Given the description of an element on the screen output the (x, y) to click on. 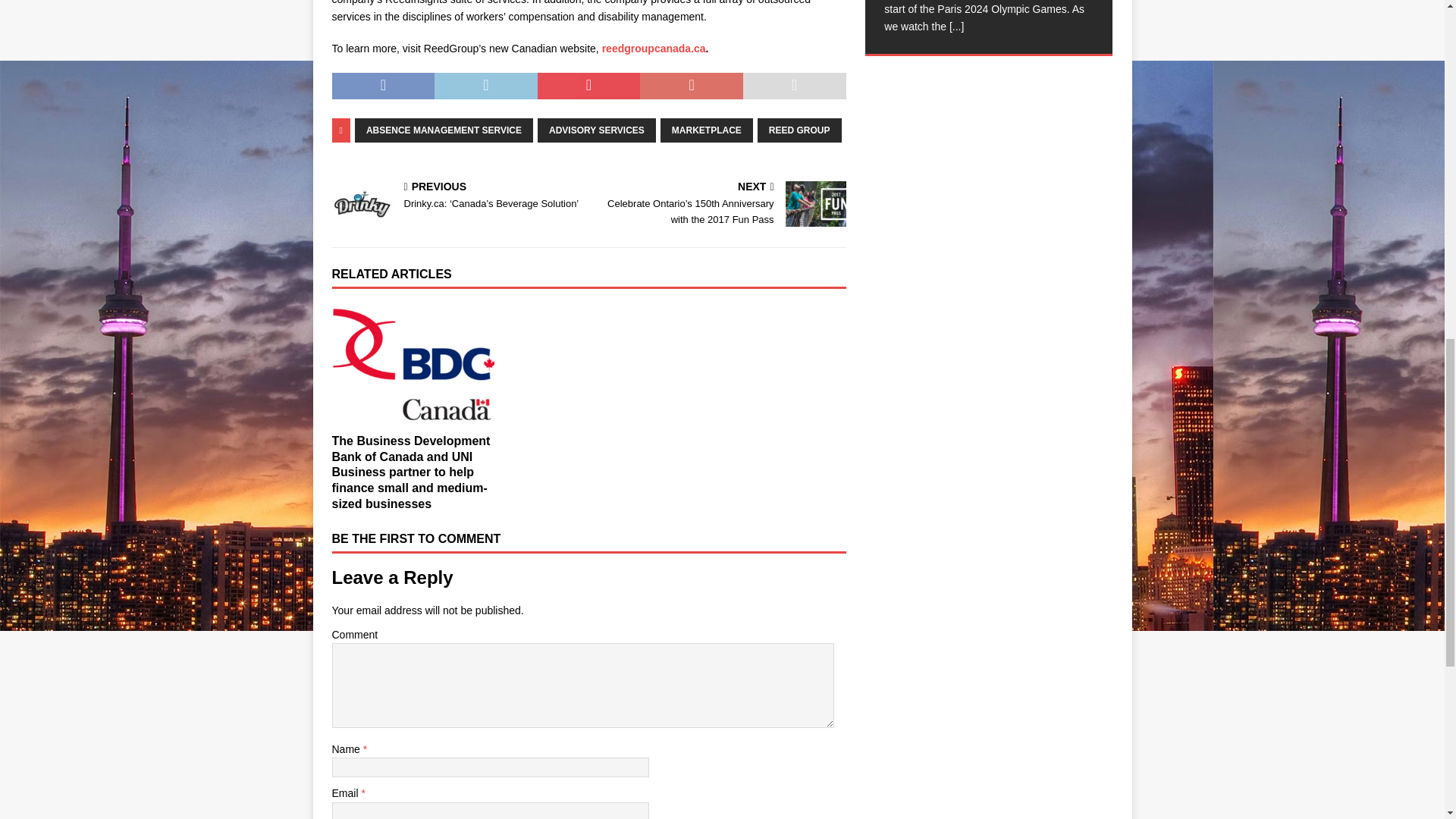
ADVISORY SERVICES (596, 129)
MARKETPLACE (706, 129)
reedgroupcanada.ca (654, 48)
REED GROUP (799, 129)
ABSENCE MANAGEMENT SERVICE (443, 129)
